Given the description of an element on the screen output the (x, y) to click on. 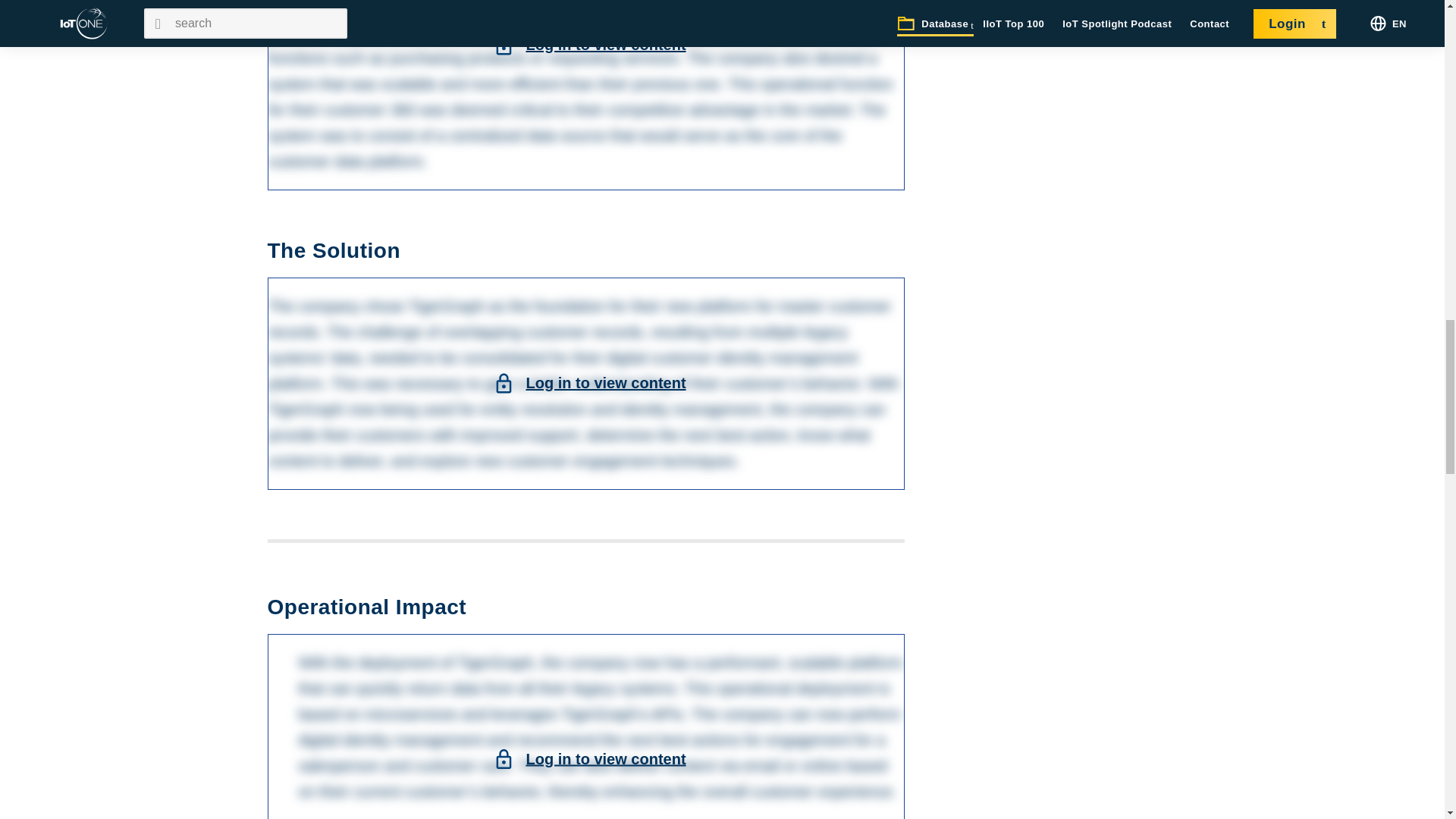
Log in to view content (605, 758)
Log in to view content (605, 44)
Log in to view content (605, 382)
